Given the description of an element on the screen output the (x, y) to click on. 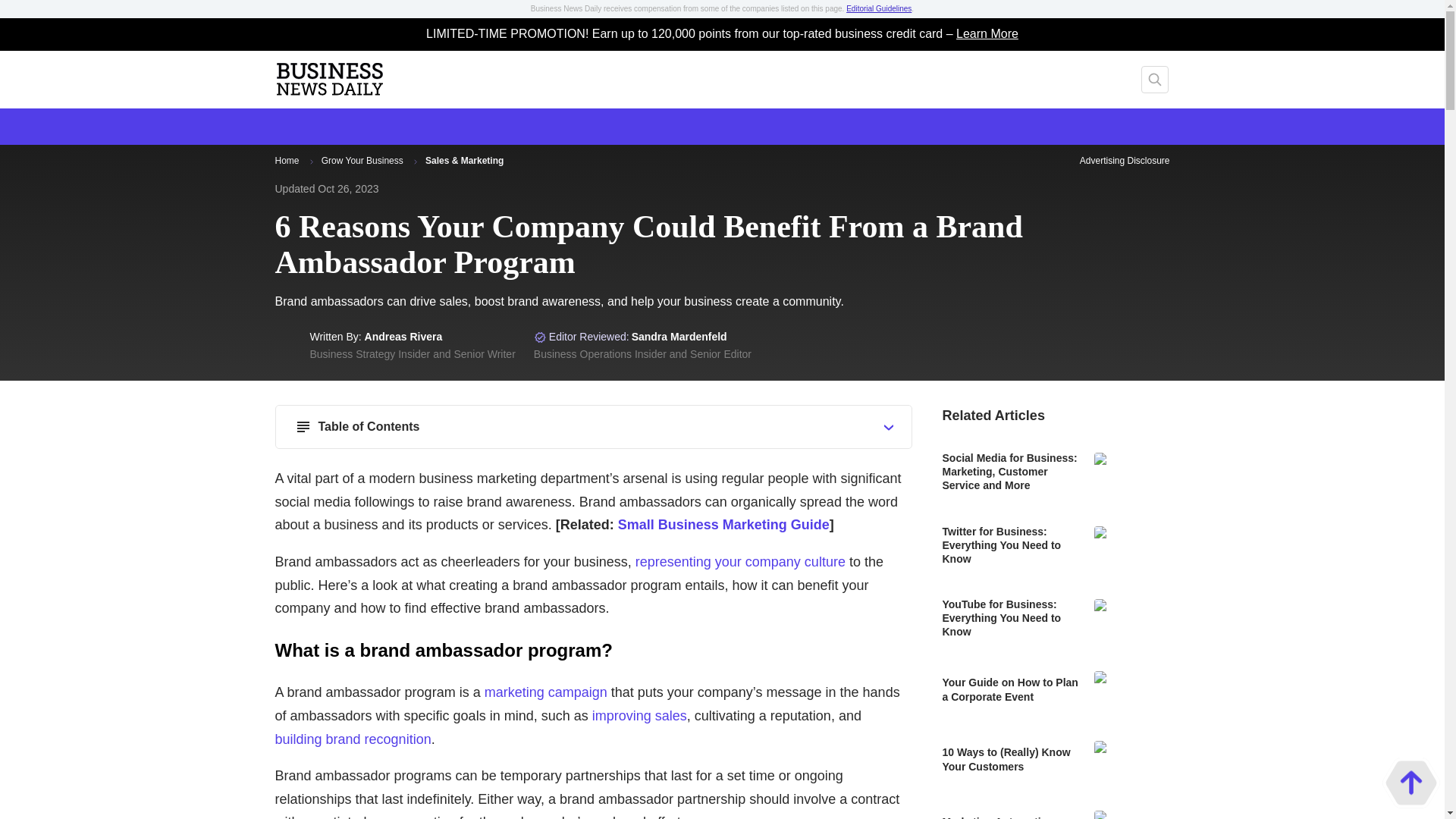
Learn More (986, 34)
Arrow (311, 160)
Verified Check With Border (540, 337)
Editorial Guidelines (878, 8)
Open row (888, 427)
Arrow (414, 160)
